Given the description of an element on the screen output the (x, y) to click on. 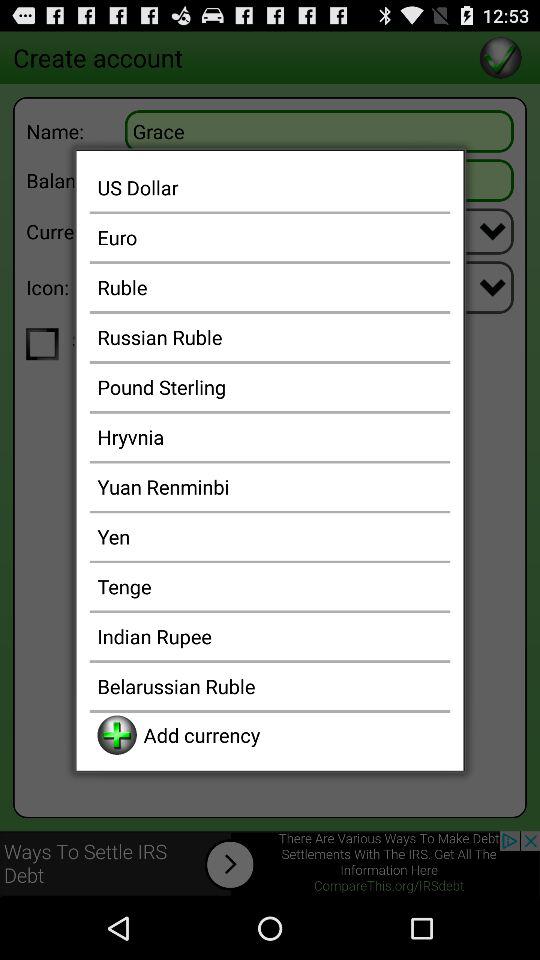
select the icon below yen app (269, 586)
